Given the description of an element on the screen output the (x, y) to click on. 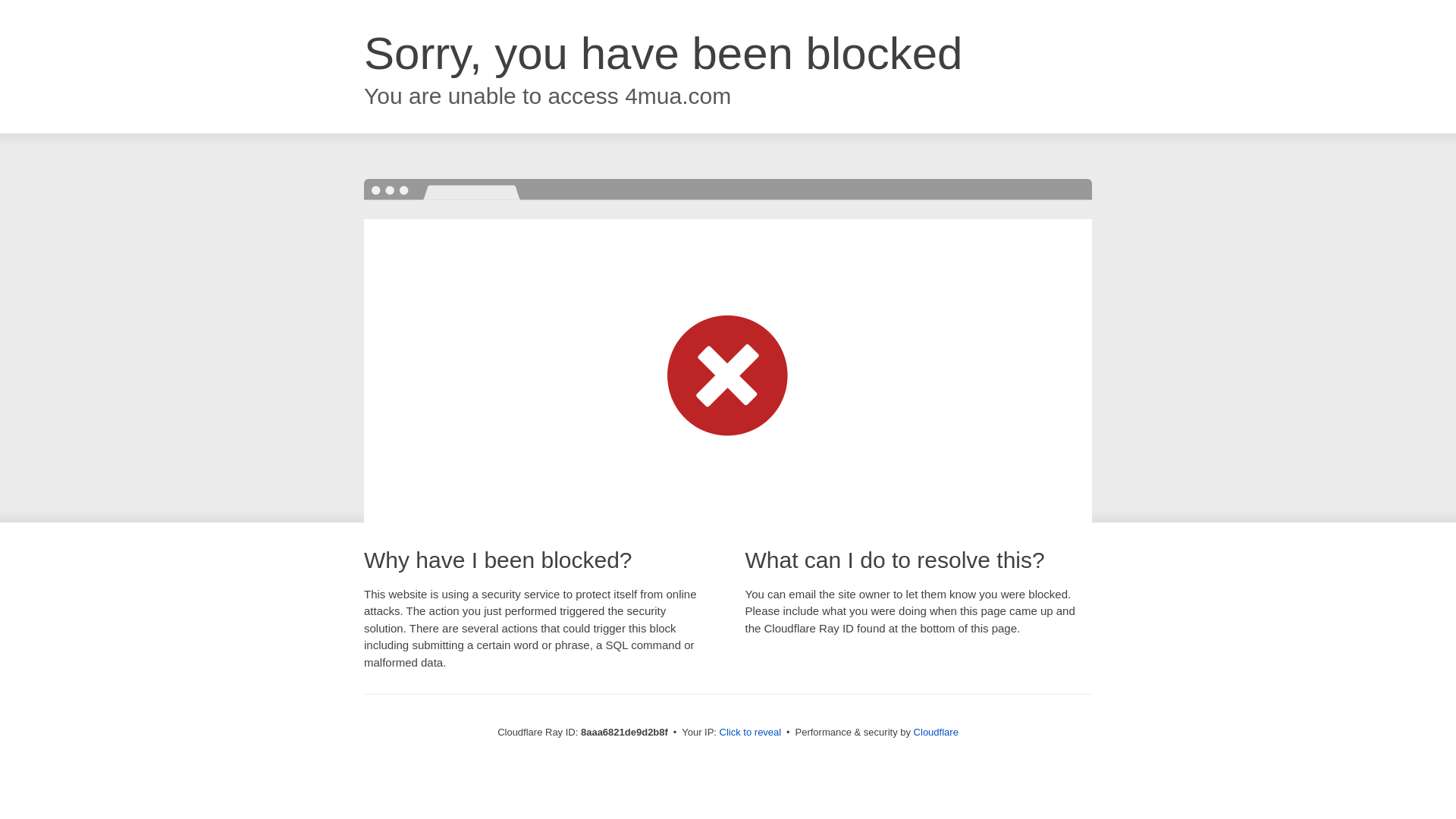
Cloudflare (936, 731)
Click to reveal (750, 732)
